Given the description of an element on the screen output the (x, y) to click on. 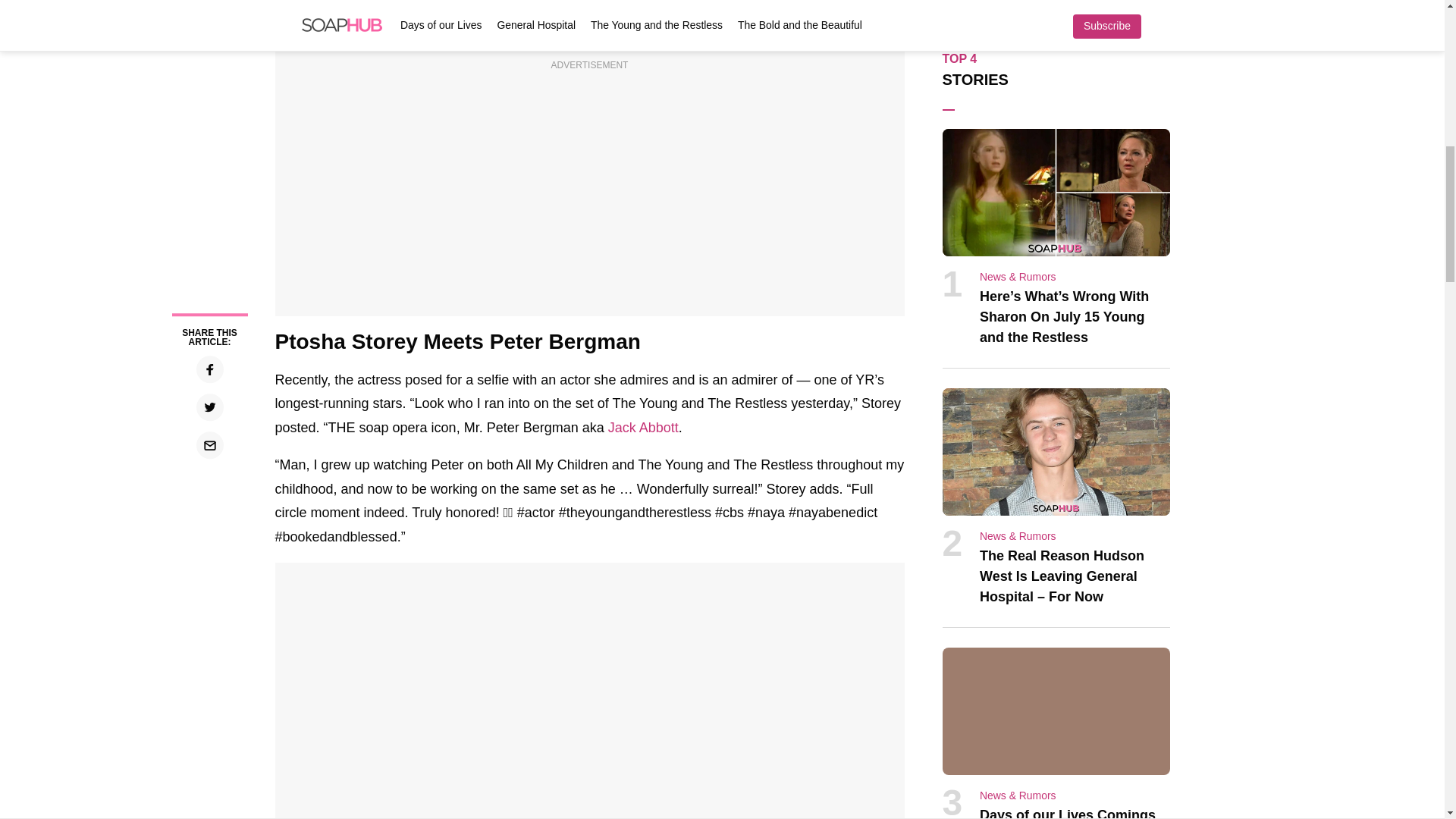
Jack Abbott (643, 427)
